Given the description of an element on the screen output the (x, y) to click on. 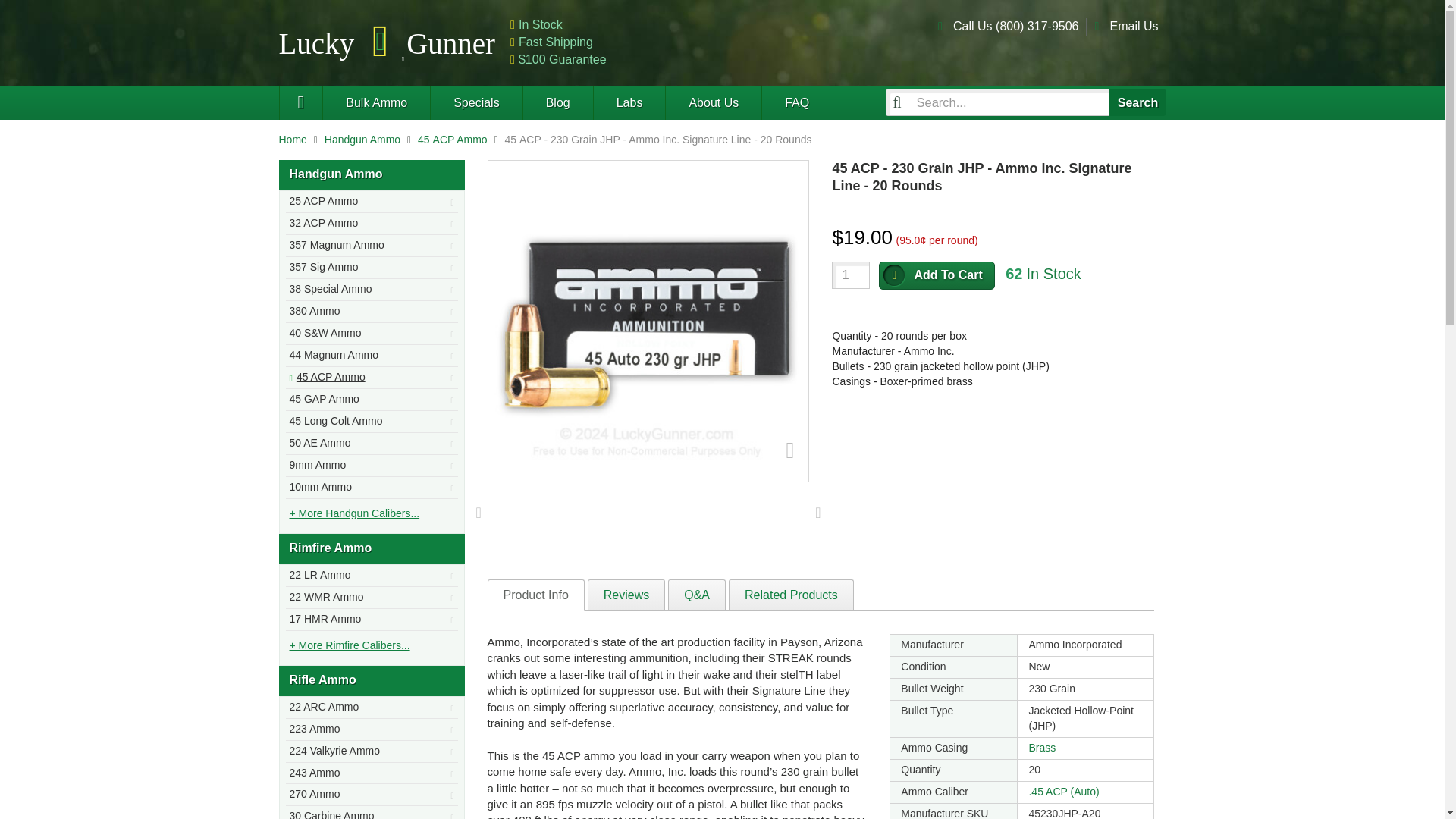
Handgun Ammo (362, 139)
Email Us (1133, 25)
About Lucky Gunner (713, 102)
1 (850, 275)
45 ACP Ammo (452, 139)
Special Ammunition Deals (475, 102)
Bulk Ammunition (375, 102)
The Lucky Gunner Lounge (557, 102)
Lucky Gunner (301, 102)
LuckyGunner's Ammunition Laboratory (628, 102)
